Given the description of an element on the screen output the (x, y) to click on. 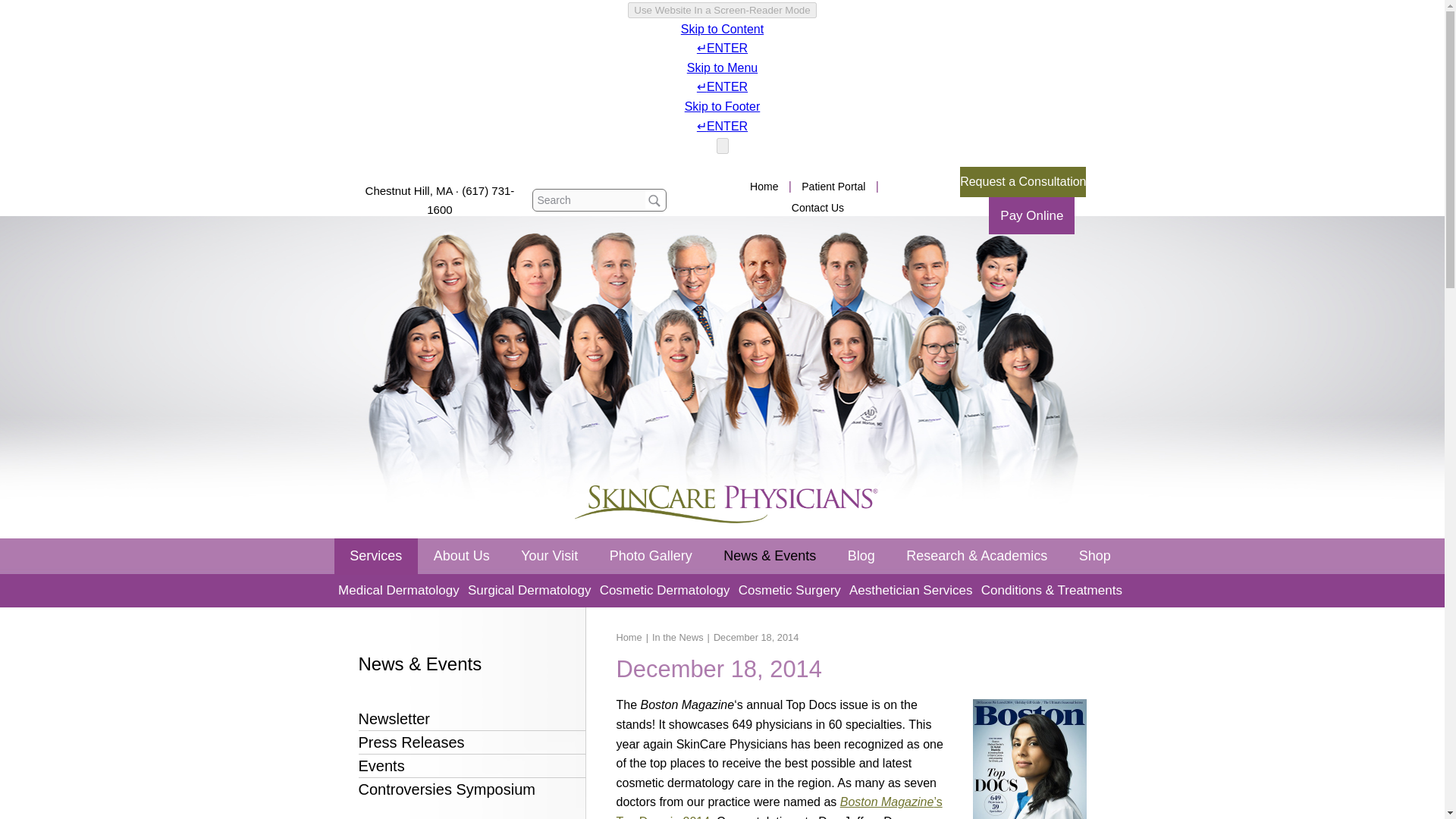
Search (654, 199)
